Given the description of an element on the screen output the (x, y) to click on. 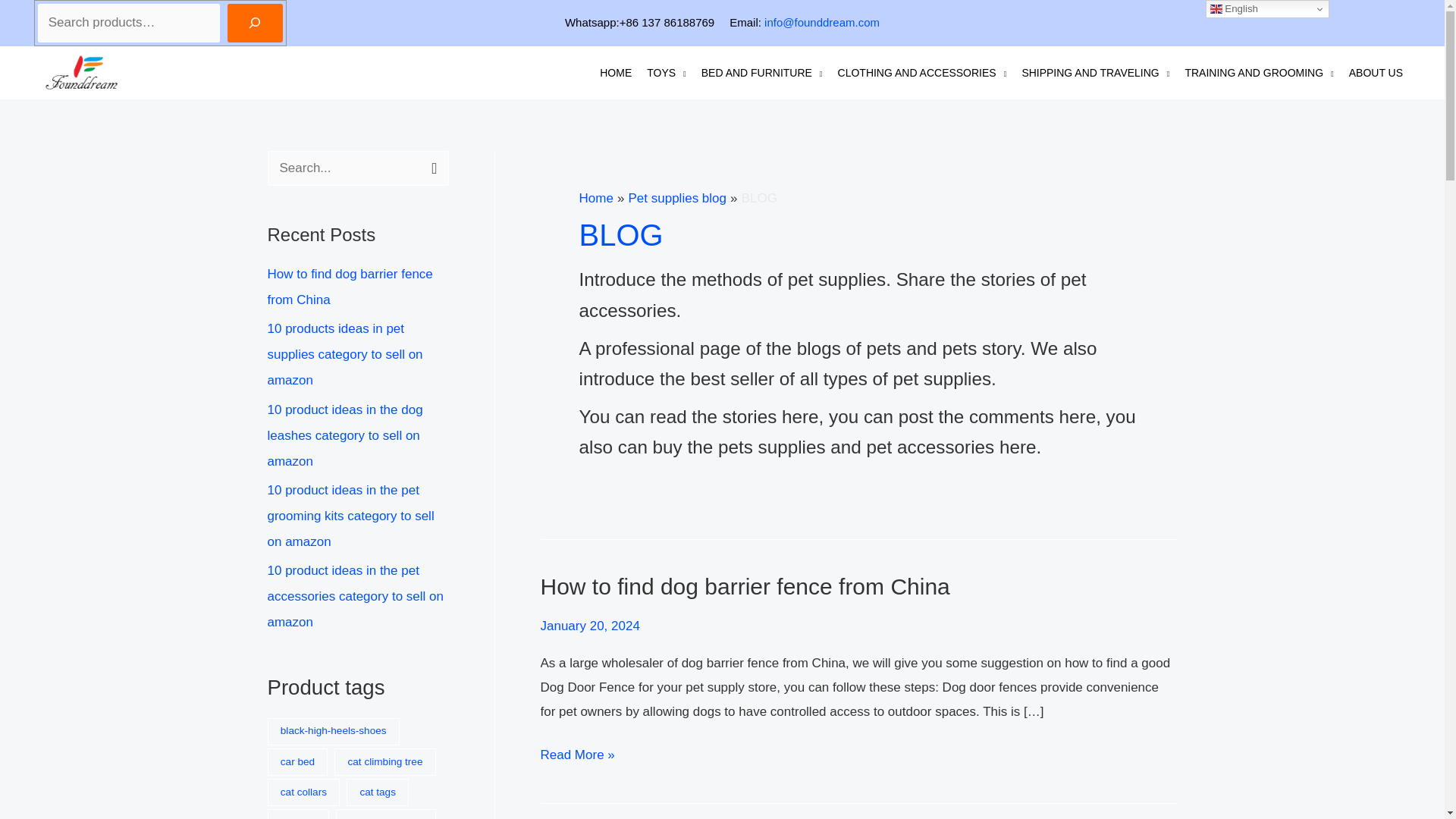
ABOUT US (1375, 72)
Search (430, 166)
BED AND FURNITURE (761, 72)
Search (430, 166)
TOYS (666, 72)
SHIPPING AND TRAVELING (1094, 72)
HOME (615, 72)
CLOTHING AND ACCESSORIES (921, 72)
TRAINING AND GROOMING (1258, 72)
